Given the description of an element on the screen output the (x, y) to click on. 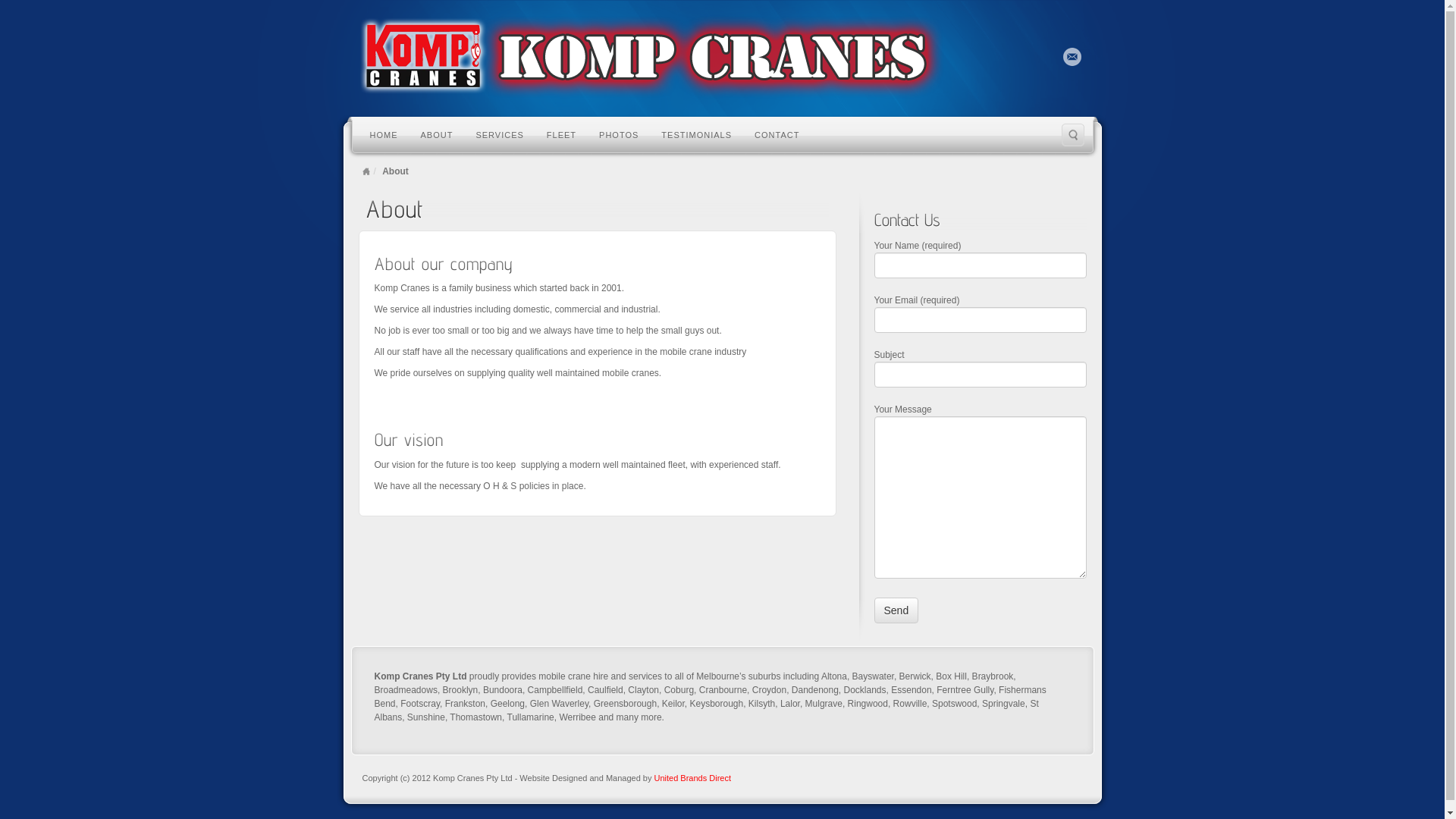
Send Element type: text (895, 610)
Search the site... Element type: text (1072, 134)
CONTACT Element type: text (776, 134)
TESTIMONIALS Element type: text (696, 134)
SERVICES Element type: text (499, 134)
United Brands Direct Element type: text (692, 777)
FLEET Element type: text (561, 134)
ABOUT Element type: text (436, 134)
Home Element type: text (366, 170)
Email Element type: text (1072, 56)
Komp Cranes Element type: hover (721, 56)
HOME Element type: text (382, 134)
PHOTOS Element type: text (618, 134)
